Given the description of an element on the screen output the (x, y) to click on. 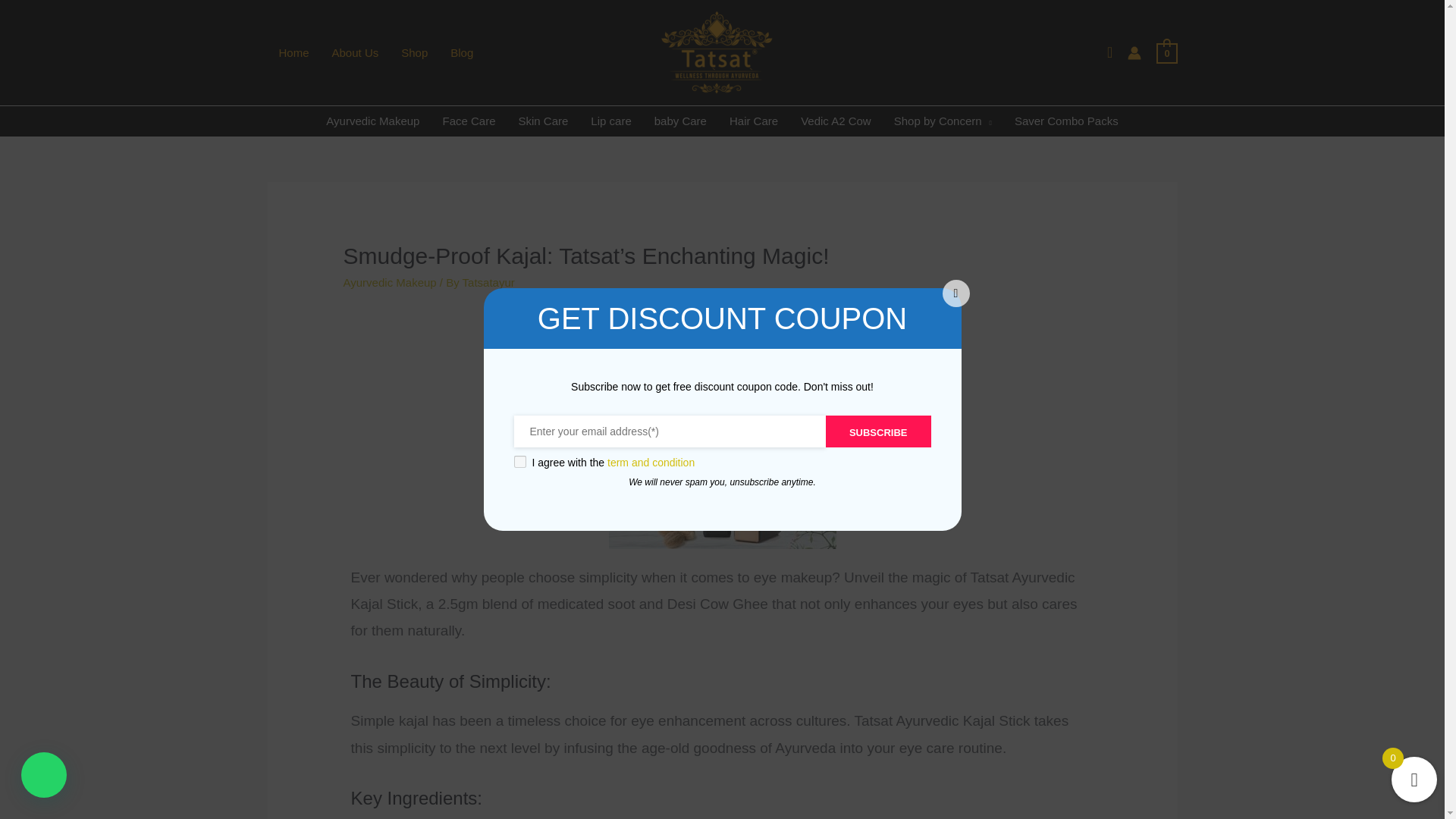
Lip care (610, 121)
About Us (355, 51)
Shop by Concern (942, 121)
Vedic A2 Cow (835, 121)
Shop (414, 51)
Hair Care (753, 121)
Skin Care (542, 121)
View your shopping cart (1166, 51)
on (519, 461)
Blog (461, 51)
Face Care (468, 121)
Saver Combo Packs (1066, 121)
0 (1166, 51)
View all posts by Tatsatayur (489, 282)
baby Care (680, 121)
